Given the description of an element on the screen output the (x, y) to click on. 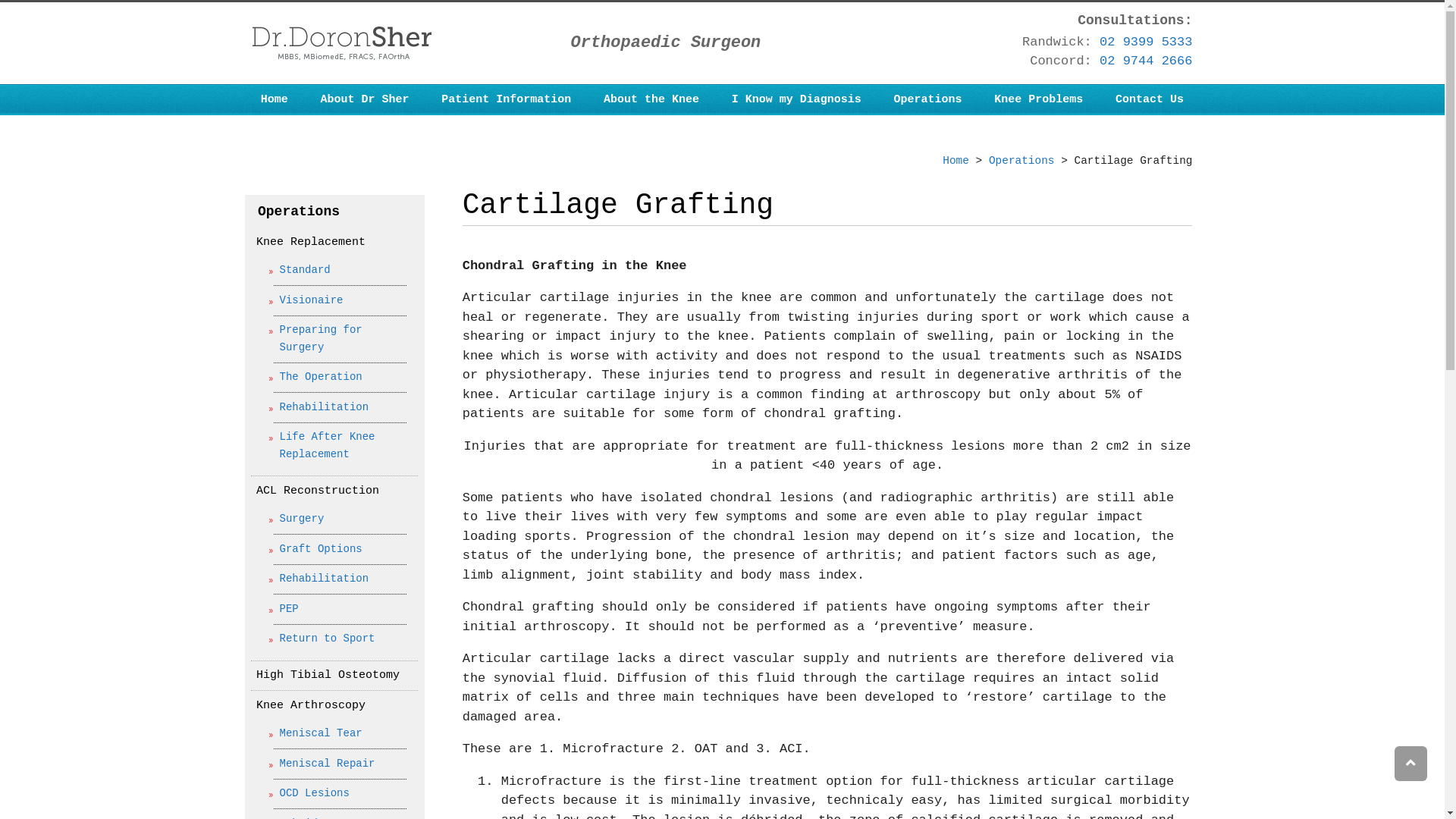
Knee Replacement Element type: text (310, 242)
OCD Lesions Element type: text (308, 793)
02 9744 2666 Element type: text (1145, 60)
Rehabilitation Element type: text (318, 406)
Operations Element type: text (1021, 160)
Home Element type: text (955, 160)
PEP Element type: text (283, 608)
02 9399 5333 Element type: text (1145, 41)
Knee Arthroscopy Element type: text (310, 704)
About Dr Sher Element type: text (364, 99)
Visionaire Element type: text (305, 300)
Surgery Element type: text (296, 518)
Meniscal Repair Element type: text (321, 762)
Meniscal Tear Element type: text (315, 733)
Return to Sport Element type: text (321, 638)
Contact Us Element type: text (1149, 99)
ACL Reconstruction Element type: text (317, 490)
Knee Problems Element type: text (1038, 99)
Graft Options Element type: text (315, 548)
Operations Element type: text (295, 210)
The Operation Element type: text (315, 376)
Patient Information Element type: text (506, 99)
High Tibial Osteotomy Element type: text (327, 675)
Standard Element type: text (299, 269)
About the Knee Element type: text (651, 99)
Preparing for Surgery Element type: text (315, 338)
Rehabilitation Element type: text (318, 578)
I Know my Diagnosis Element type: text (796, 99)
Operations Element type: text (927, 99)
Home Element type: text (274, 99)
Life After Knee Replacement Element type: text (321, 445)
